Given the description of an element on the screen output the (x, y) to click on. 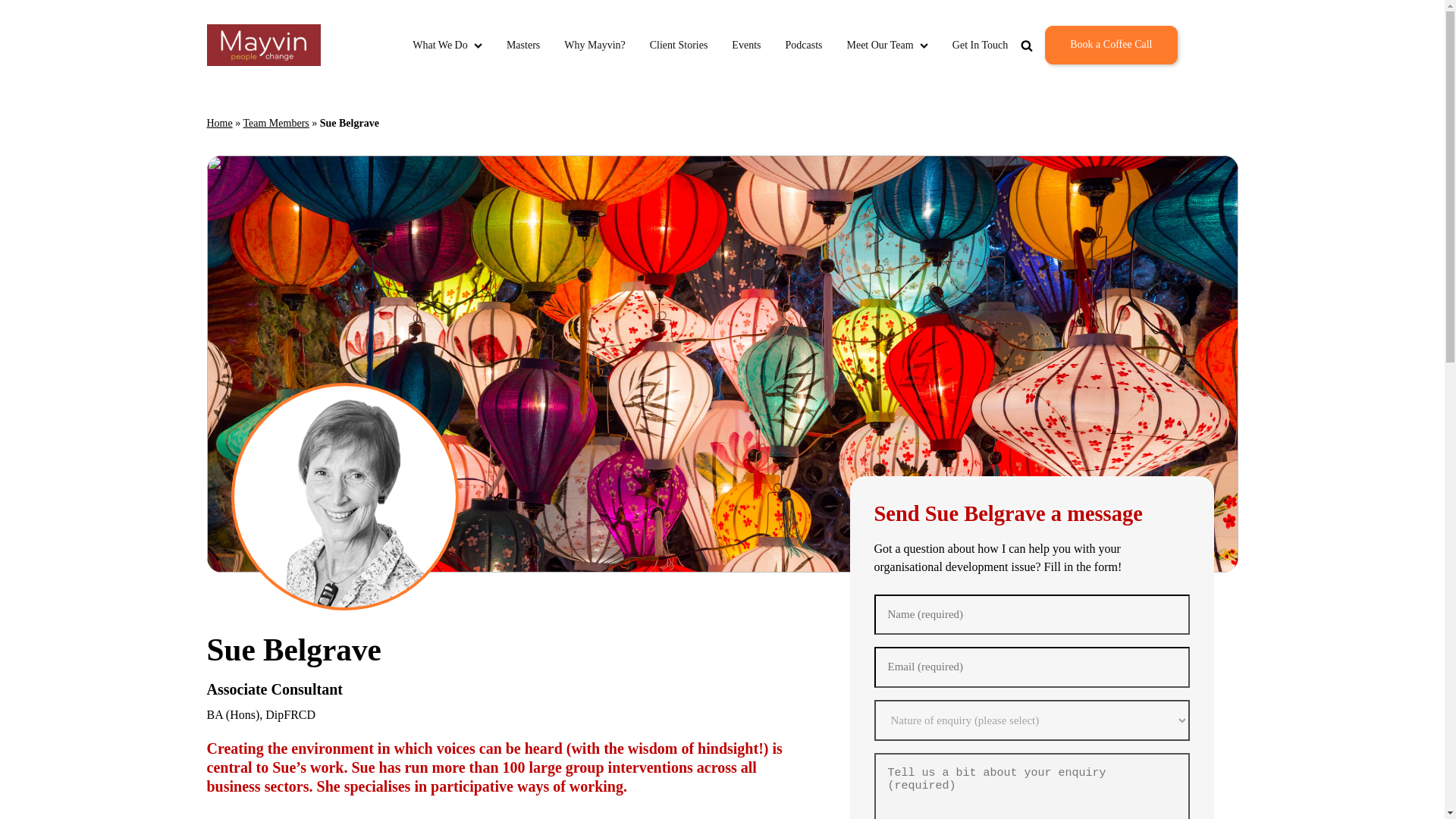
Events (746, 45)
Get In Touch (979, 45)
Book a Coffee Call (1110, 44)
Search (1071, 80)
Home (218, 122)
Meet Our Team (886, 45)
Team Members (275, 122)
Client Stories (678, 45)
Why Mayvin? (594, 45)
What We Do (446, 45)
Podcasts (803, 45)
Masters (523, 45)
